Given the description of an element on the screen output the (x, y) to click on. 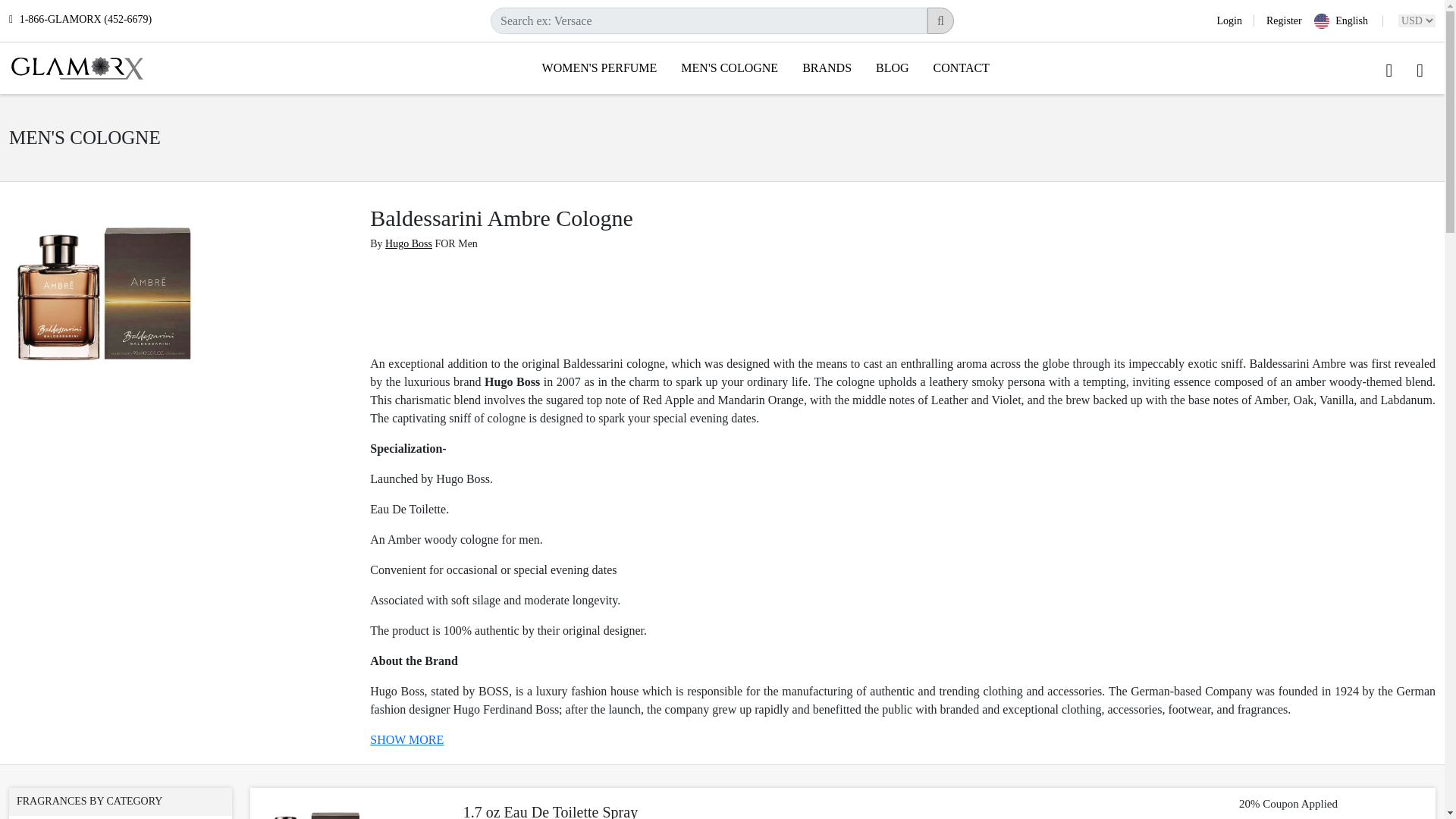
Login (1235, 20)
BRANDS (826, 67)
WOMEN'S PERFUME (599, 67)
BLOG (892, 67)
CONTACT (961, 67)
English (1348, 21)
MEN'S COLOGNE (729, 67)
Register (1277, 20)
SHOW MORE (406, 739)
Best Sellers (119, 817)
Hugo Boss (408, 243)
